Given the description of an element on the screen output the (x, y) to click on. 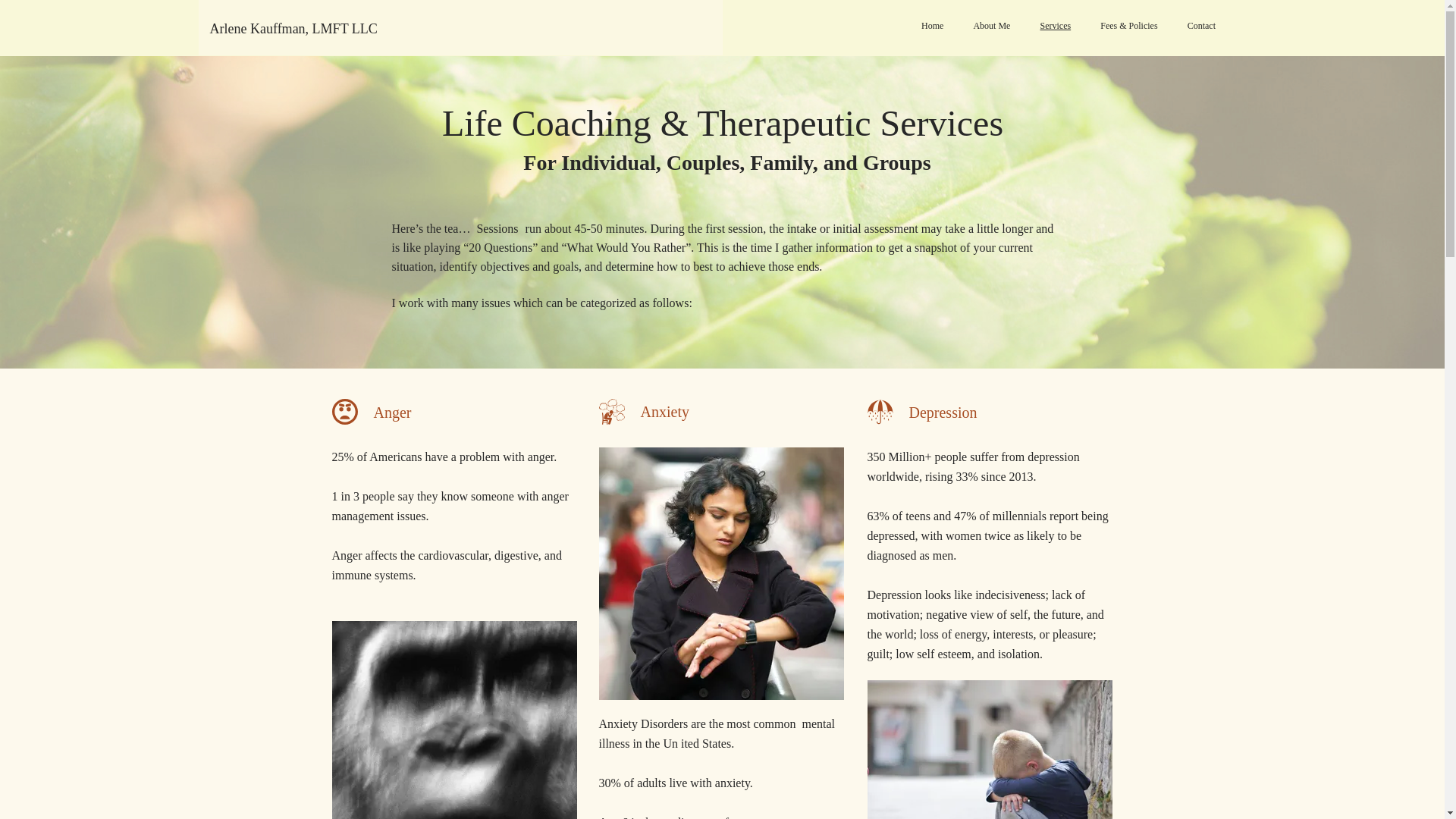
Contact Element type: text (1201, 25)
Fees & Policies Element type: text (1128, 25)
Home Element type: text (932, 25)
About Me Element type: text (991, 25)
Services Element type: text (1055, 24)
